Given the description of an element on the screen output the (x, y) to click on. 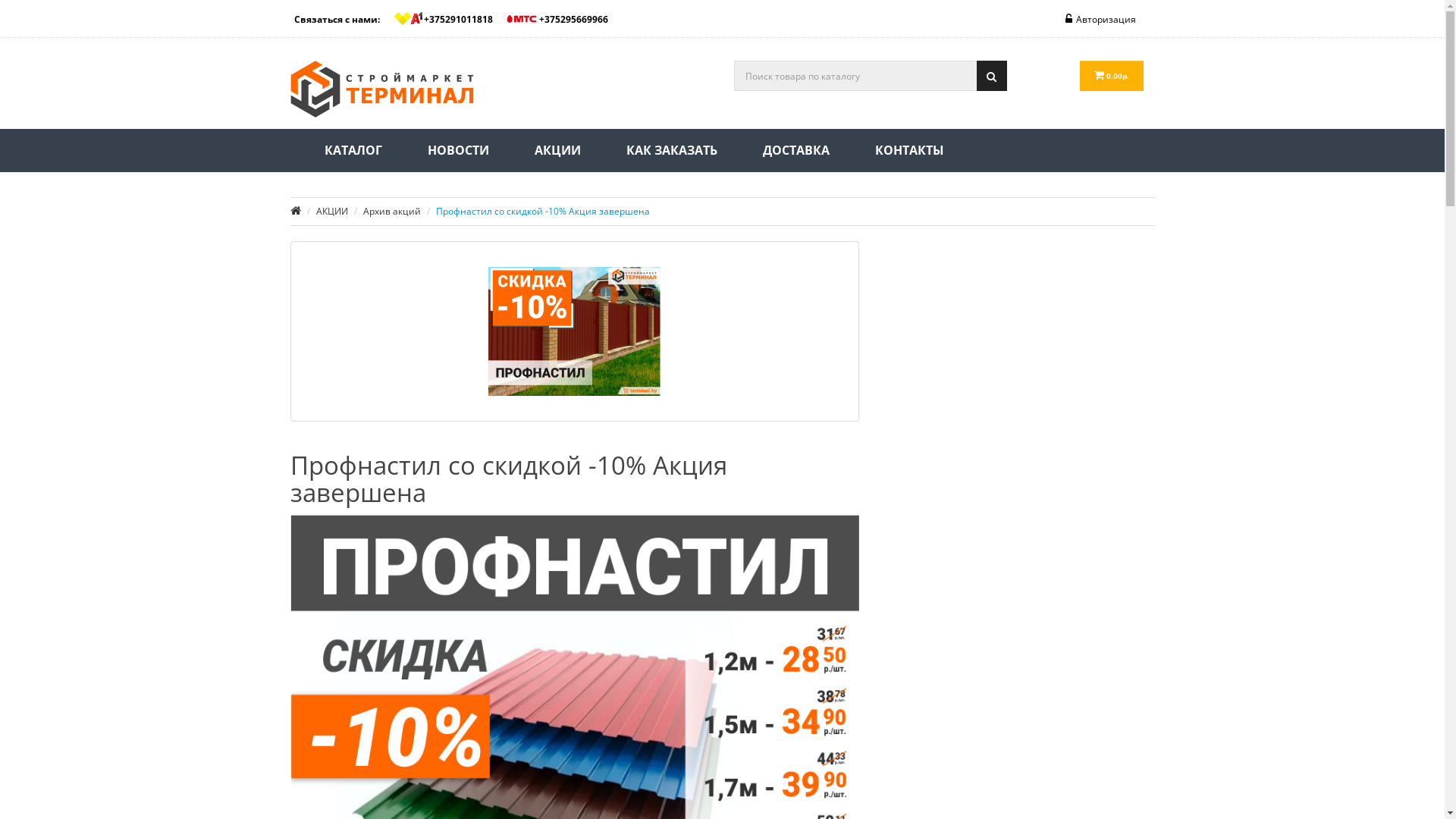
+375295669966 Element type: text (562, 18)
+375291011818 Element type: text (447, 18)
